Given the description of an element on the screen output the (x, y) to click on. 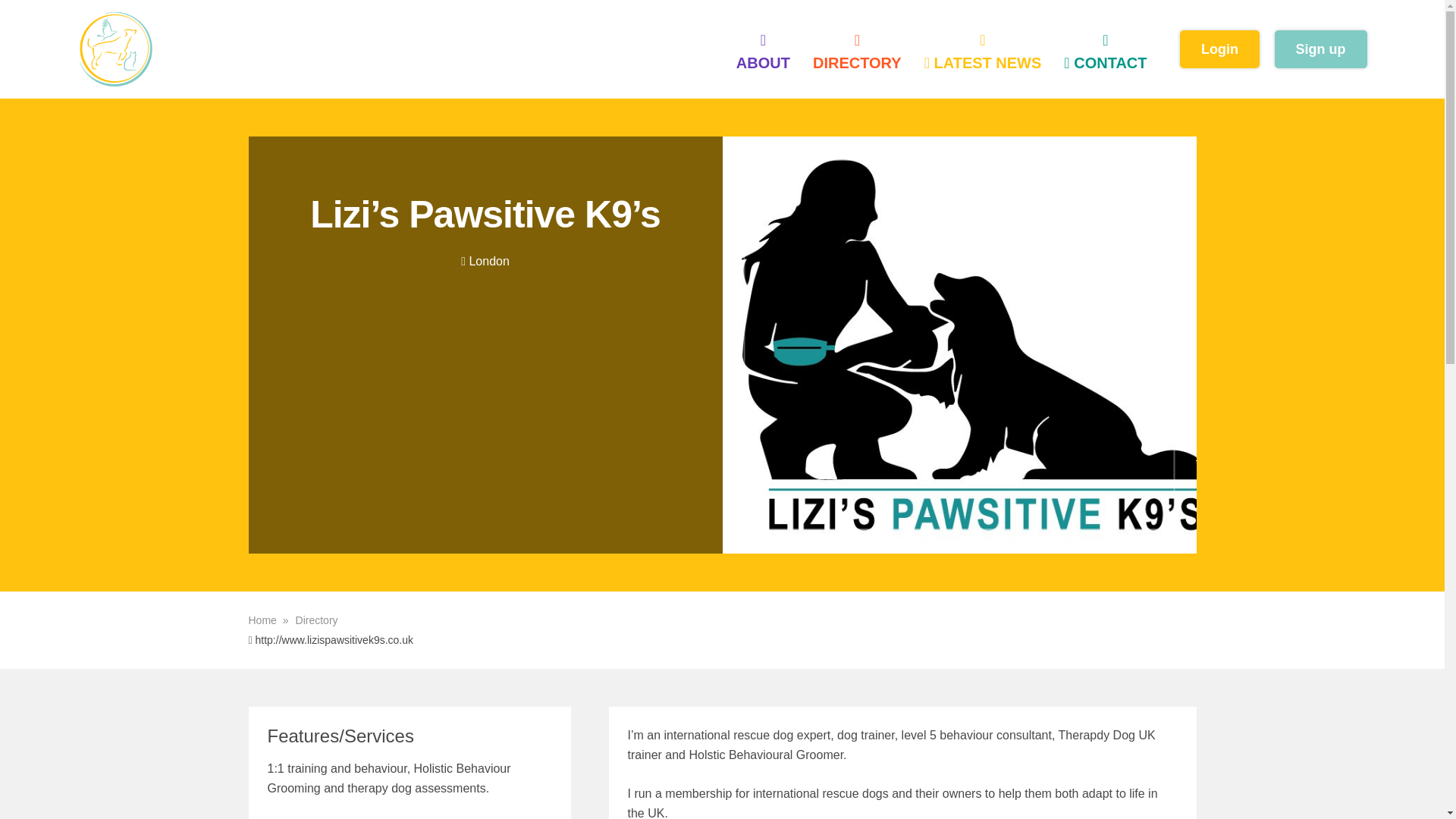
Directory (316, 620)
LATEST NEWS (982, 51)
Sign up (1320, 48)
CONTACT (1104, 51)
ABOUT (763, 51)
Home (270, 620)
Login (1219, 48)
DIRECTORY (857, 51)
